Given the description of an element on the screen output the (x, y) to click on. 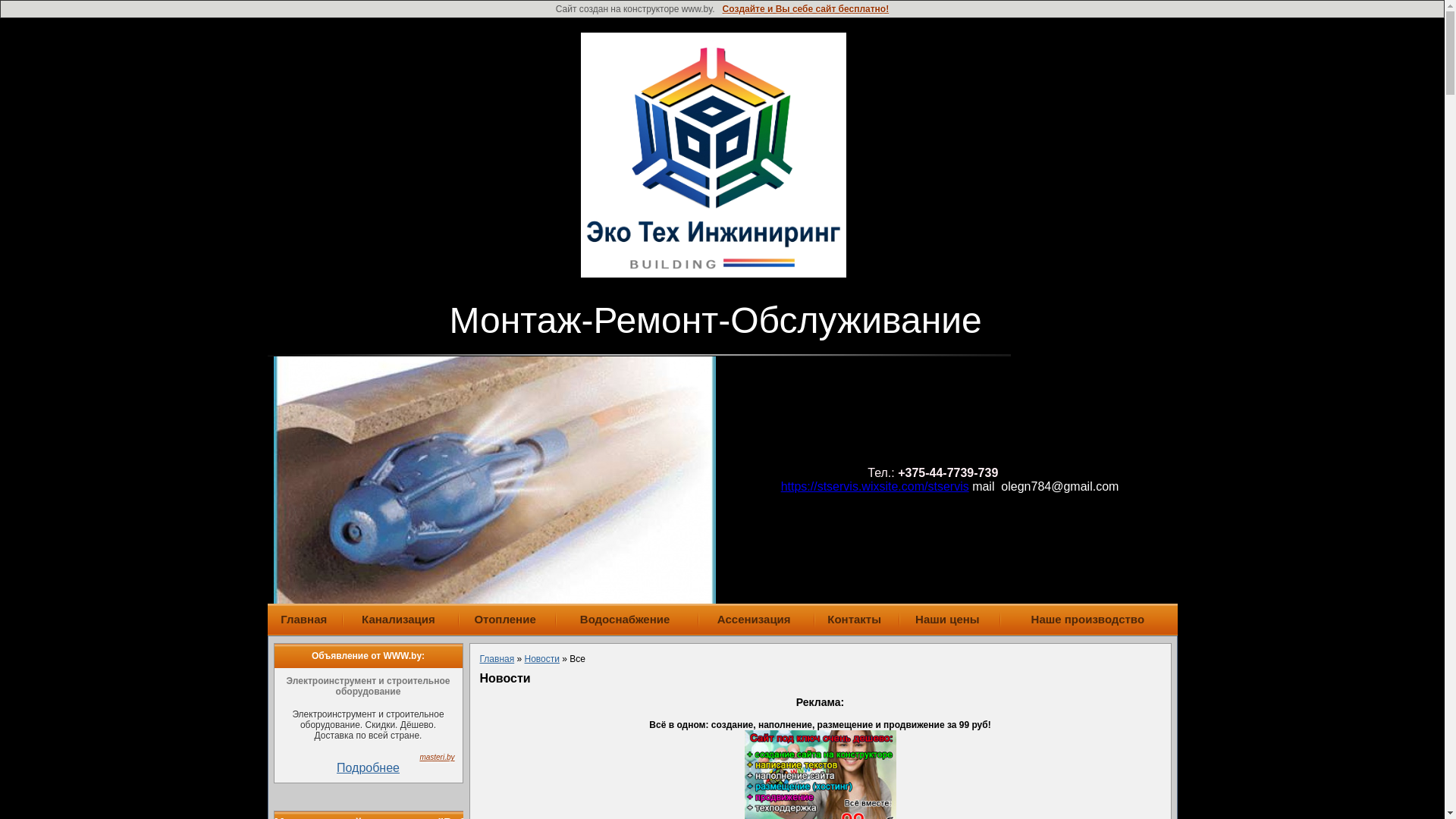
masteri.by Element type: text (436, 757)
https://stservis.wixsite.com/stservis Element type: text (875, 486)
